Given the description of an element on the screen output the (x, y) to click on. 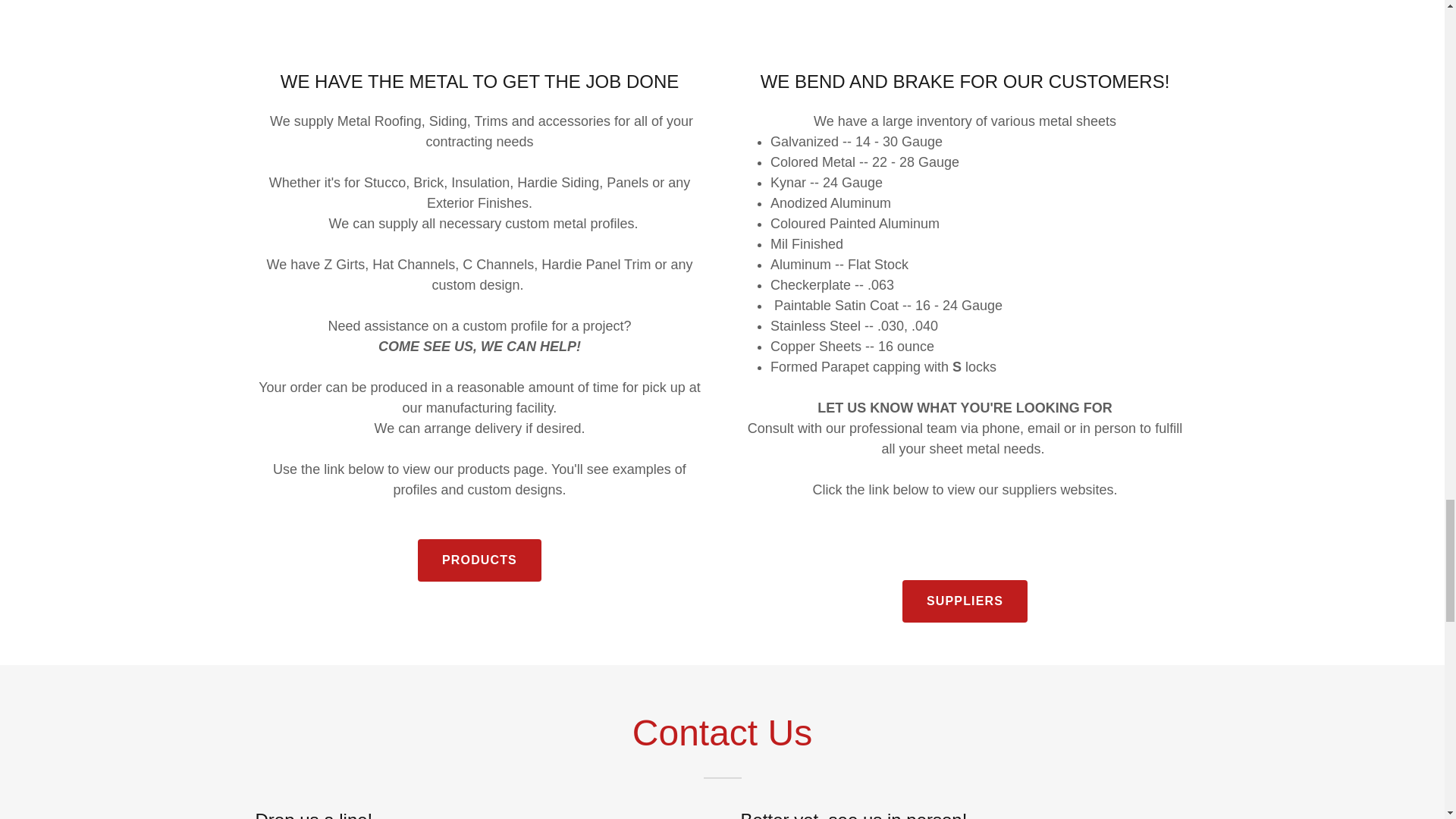
PRODUCTS (479, 559)
SUPPLIERS (964, 600)
